Given the description of an element on the screen output the (x, y) to click on. 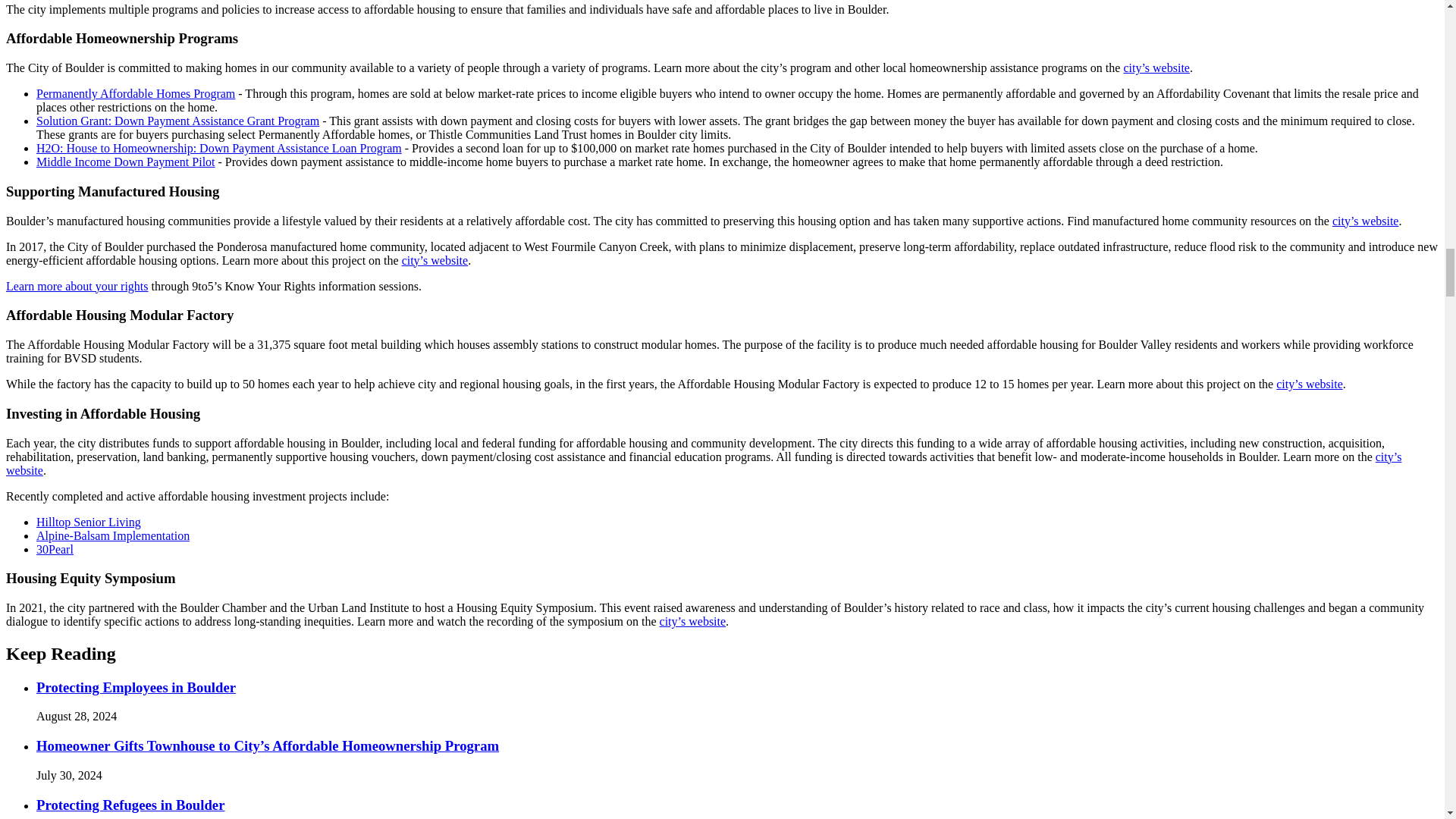
Solution Grant: Down Payment Assistance Grant Program (177, 120)
Permanently Affordable Homes Program (135, 92)
